Given the description of an element on the screen output the (x, y) to click on. 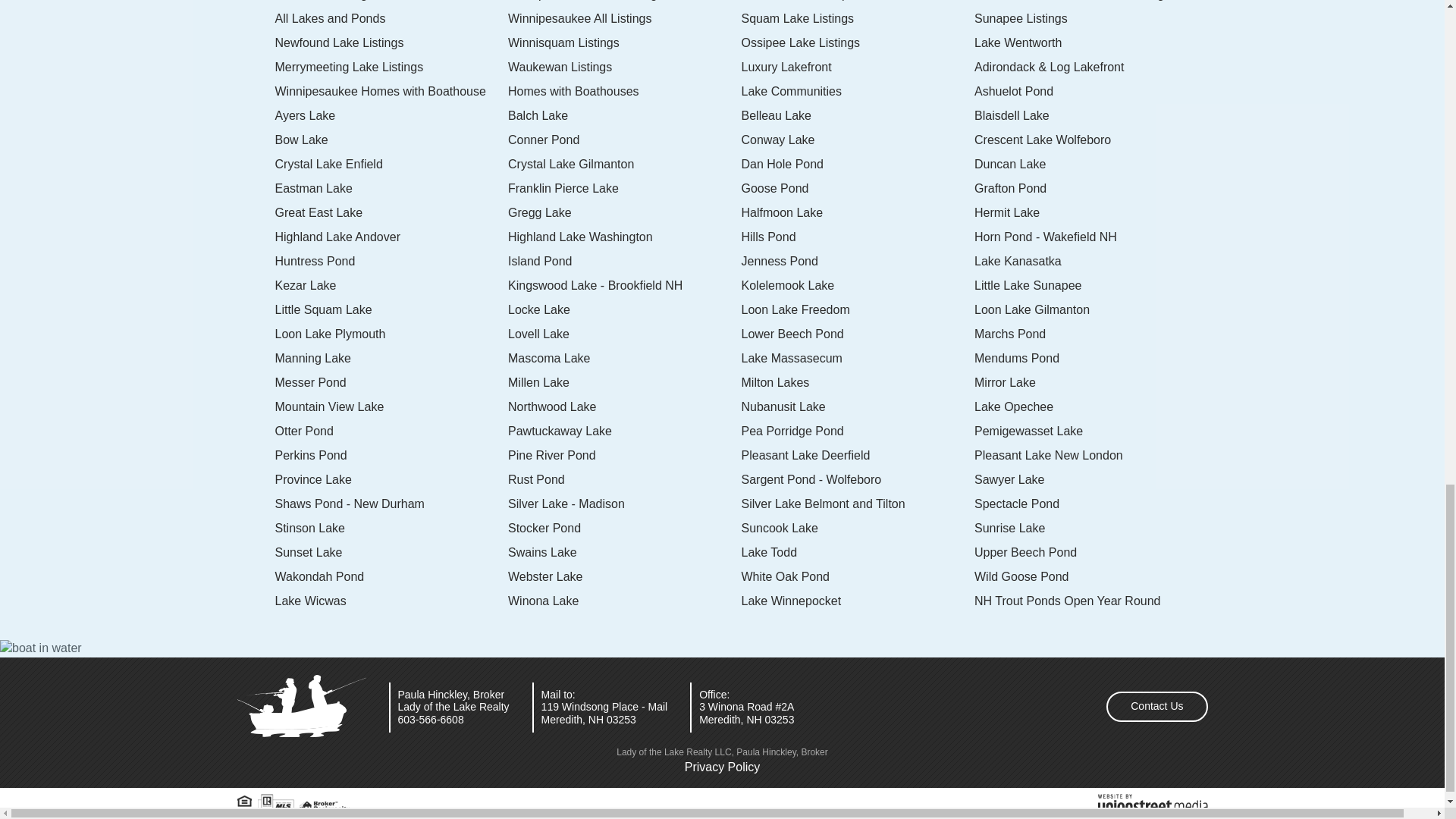
Lake Winnisquam Real Estate  (624, 42)
Lake Winnipesaukee Real Estate  (624, 19)
Newfound Lake Real Estate  (391, 42)
NH Lakes and Pond Property for Sale - All  (391, 19)
Squam Lake Waterfront Real Estate  (858, 19)
Lake Sunapee Real Estate  (1091, 19)
